Given the description of an element on the screen output the (x, y) to click on. 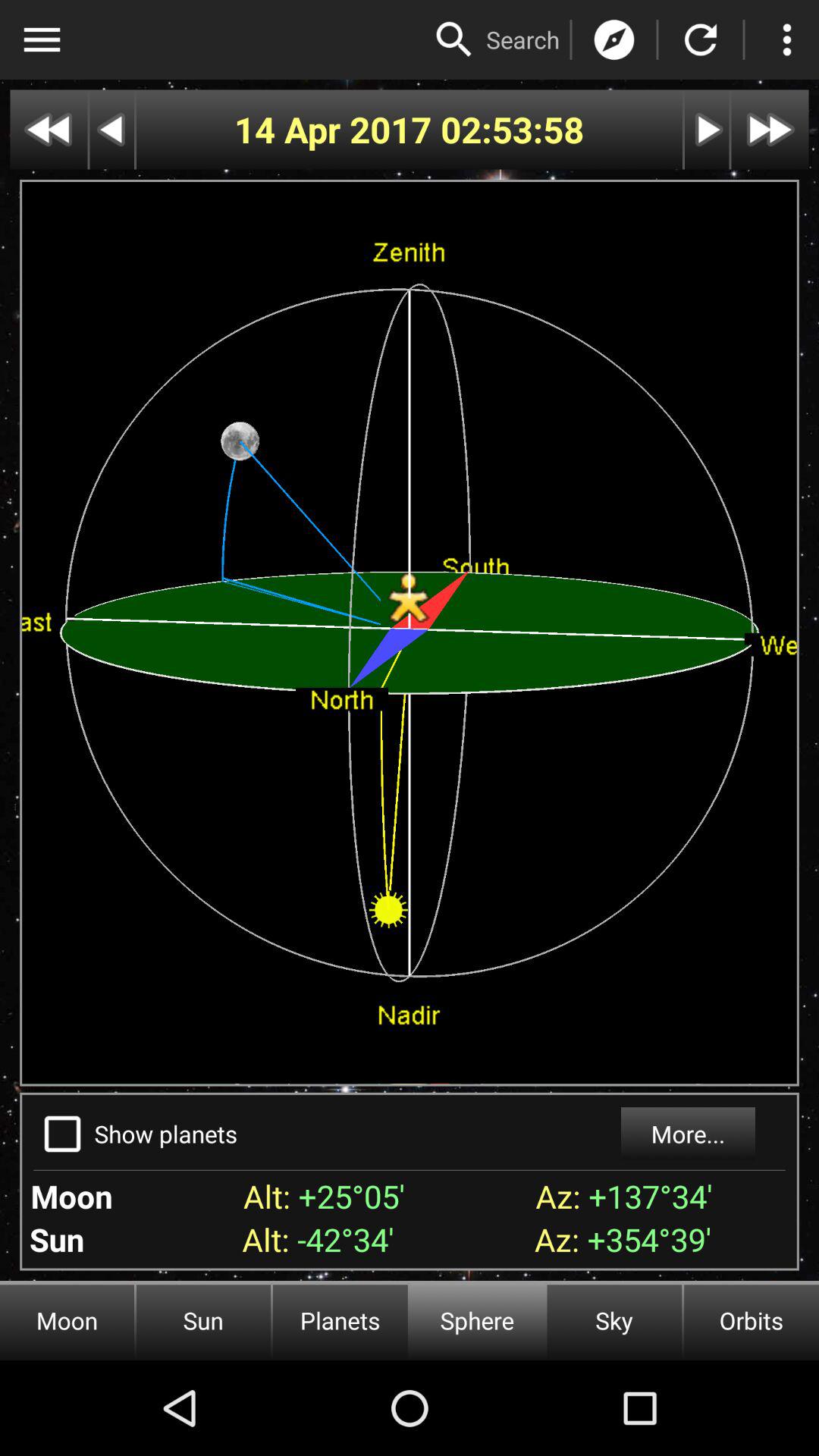
select more options (787, 39)
